Given the description of an element on the screen output the (x, y) to click on. 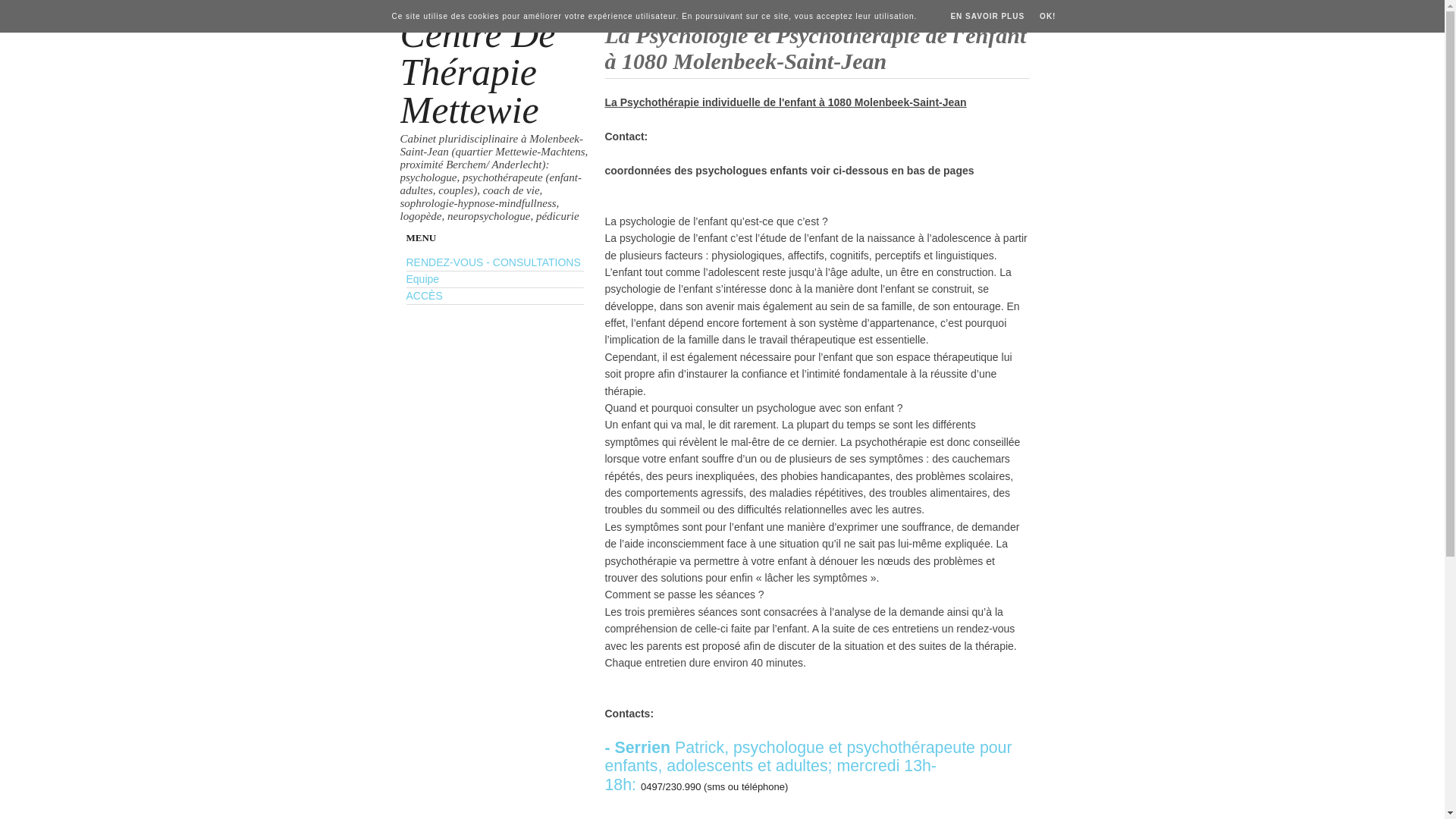
Equipe Element type: text (422, 279)
EN SAVOIR PLUS Element type: text (987, 16)
OK! Element type: text (1047, 16)
RENDEZ-VOUS - CONSULTATIONS Element type: text (493, 262)
